Given the description of an element on the screen output the (x, y) to click on. 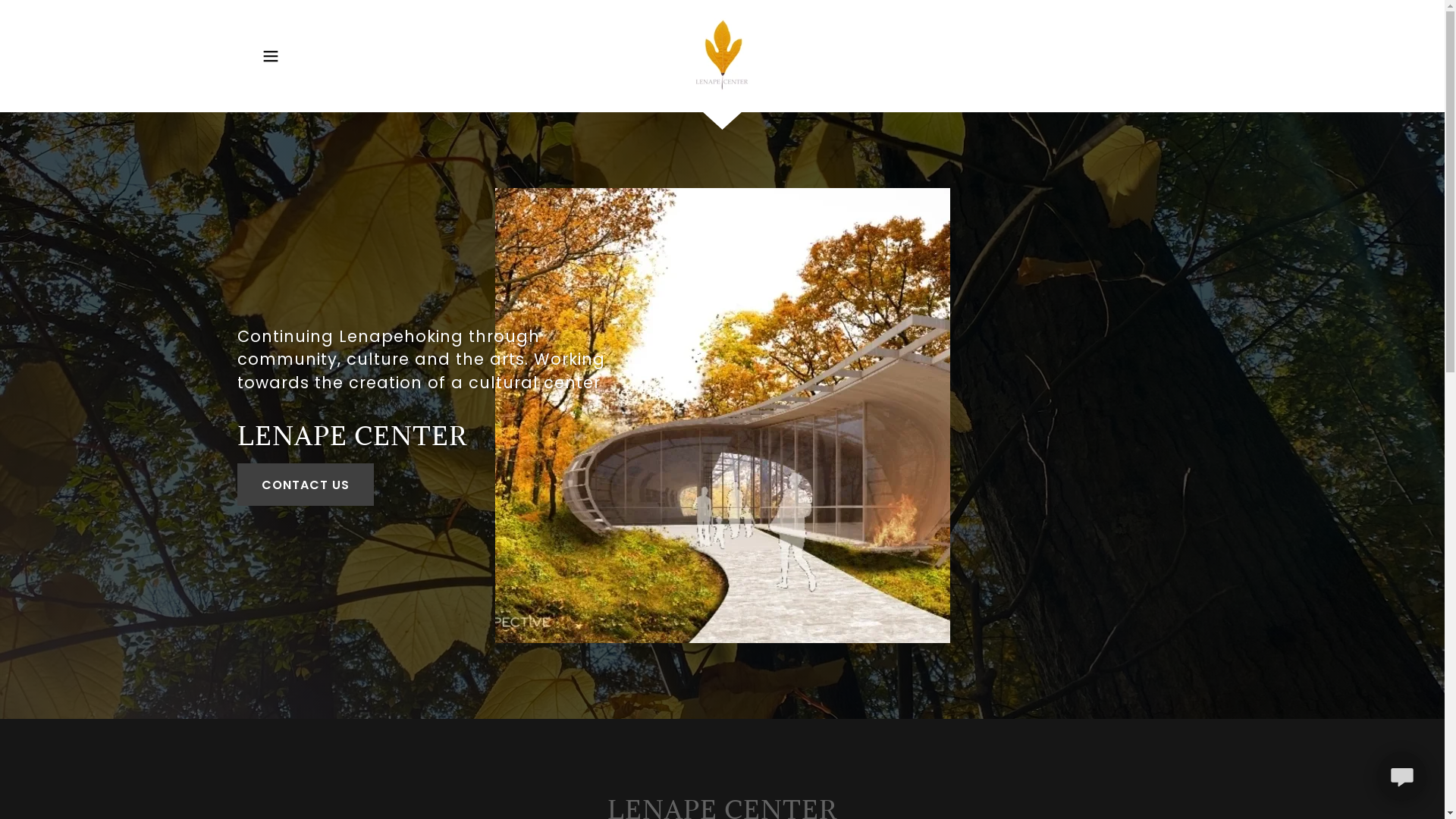
Lenape Center Element type: hover (722, 54)
CONTACT US Element type: text (304, 484)
